Given the description of an element on the screen output the (x, y) to click on. 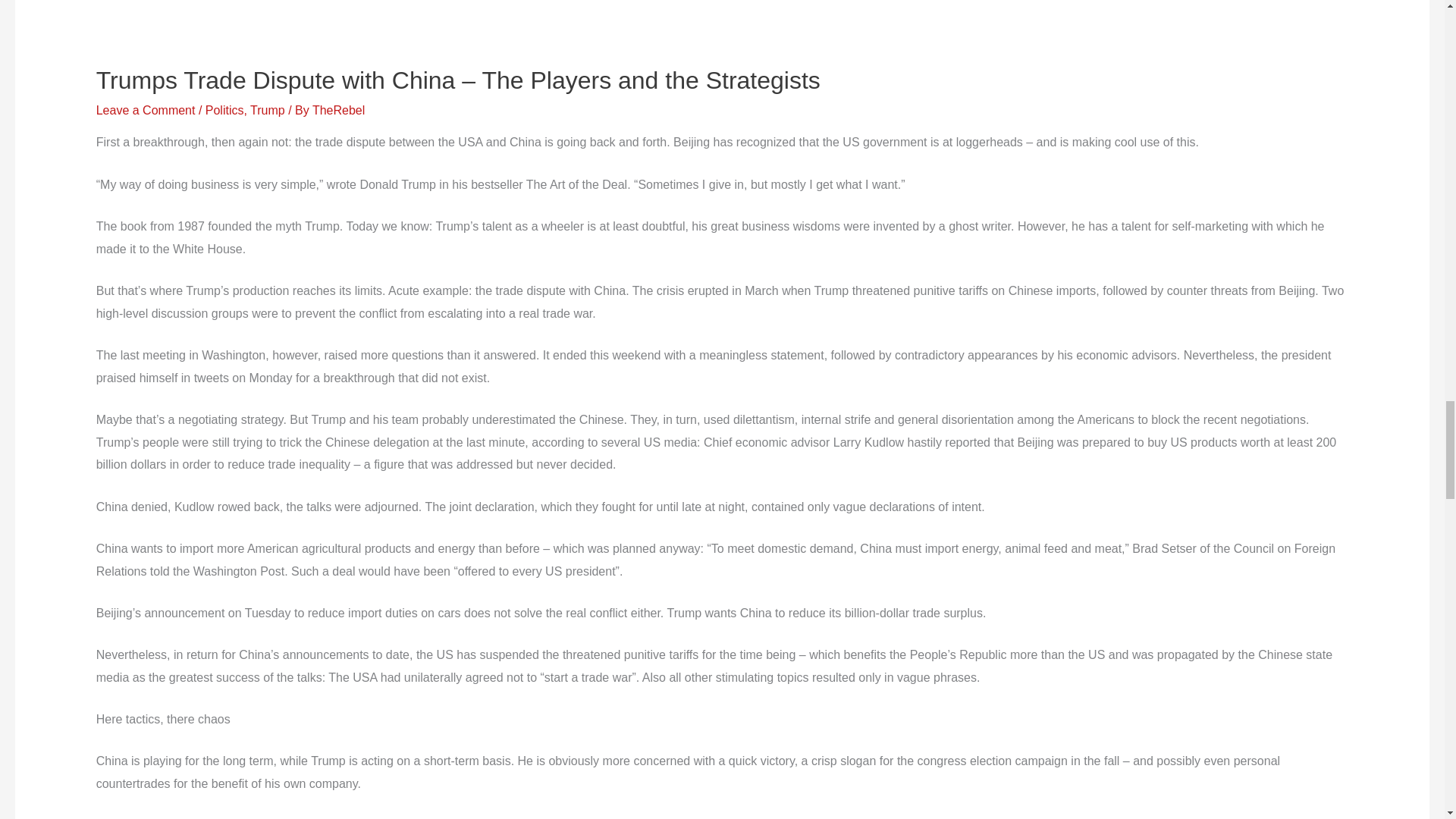
Trump (267, 110)
TheRebel (339, 110)
Leave a Comment (145, 110)
Politics (224, 110)
View all posts by TheRebel (339, 110)
